Given the description of an element on the screen output the (x, y) to click on. 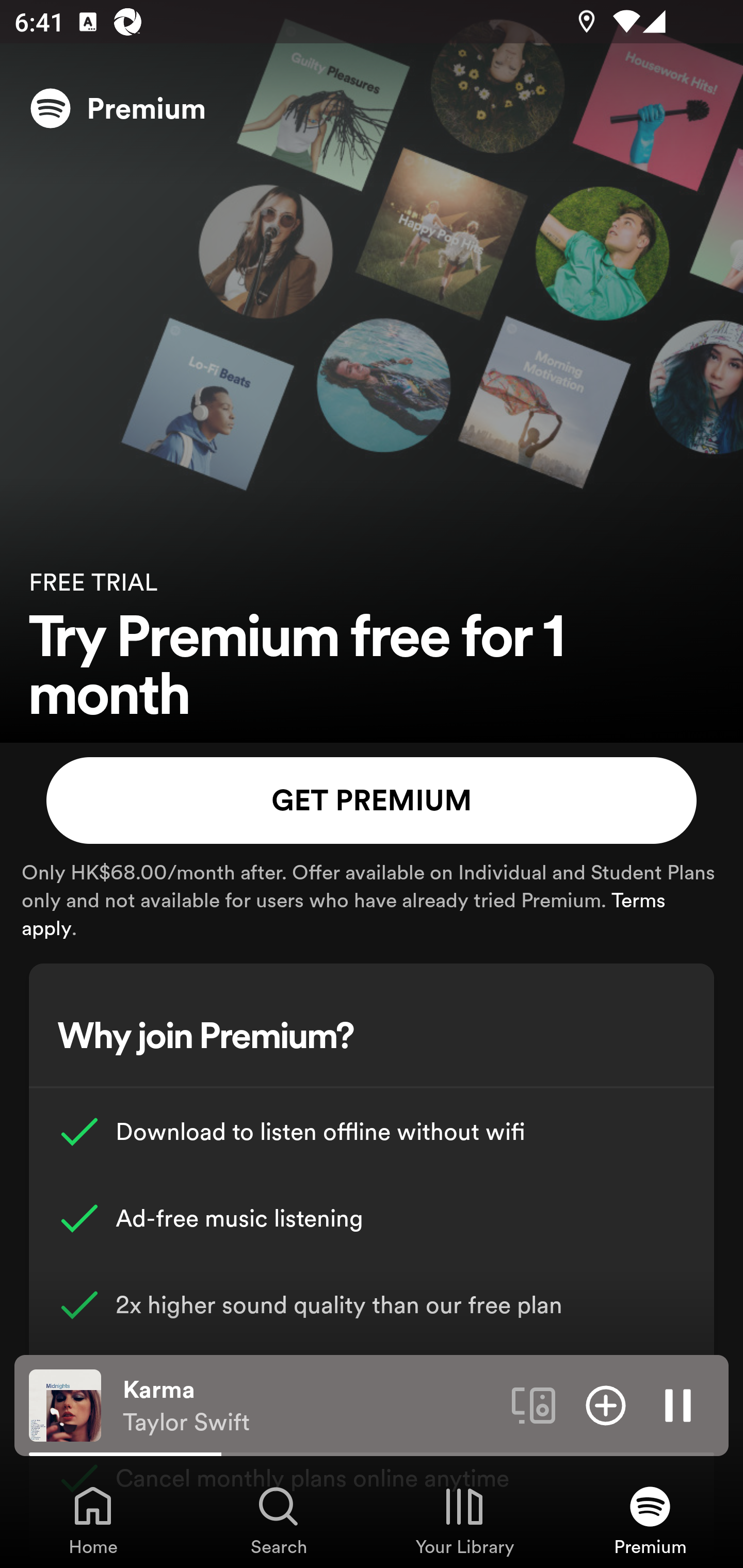
GET PREMIUM (371, 800)
Karma Taylor Swift (309, 1405)
The cover art of the currently playing track (64, 1404)
Connect to a device. Opens the devices menu (533, 1404)
Add item (605, 1404)
Pause (677, 1404)
Home, Tab 1 of 4 Home Home (92, 1519)
Search, Tab 2 of 4 Search Search (278, 1519)
Your Library, Tab 3 of 4 Your Library Your Library (464, 1519)
Premium, Tab 4 of 4 Premium Premium (650, 1519)
